Given the description of an element on the screen output the (x, y) to click on. 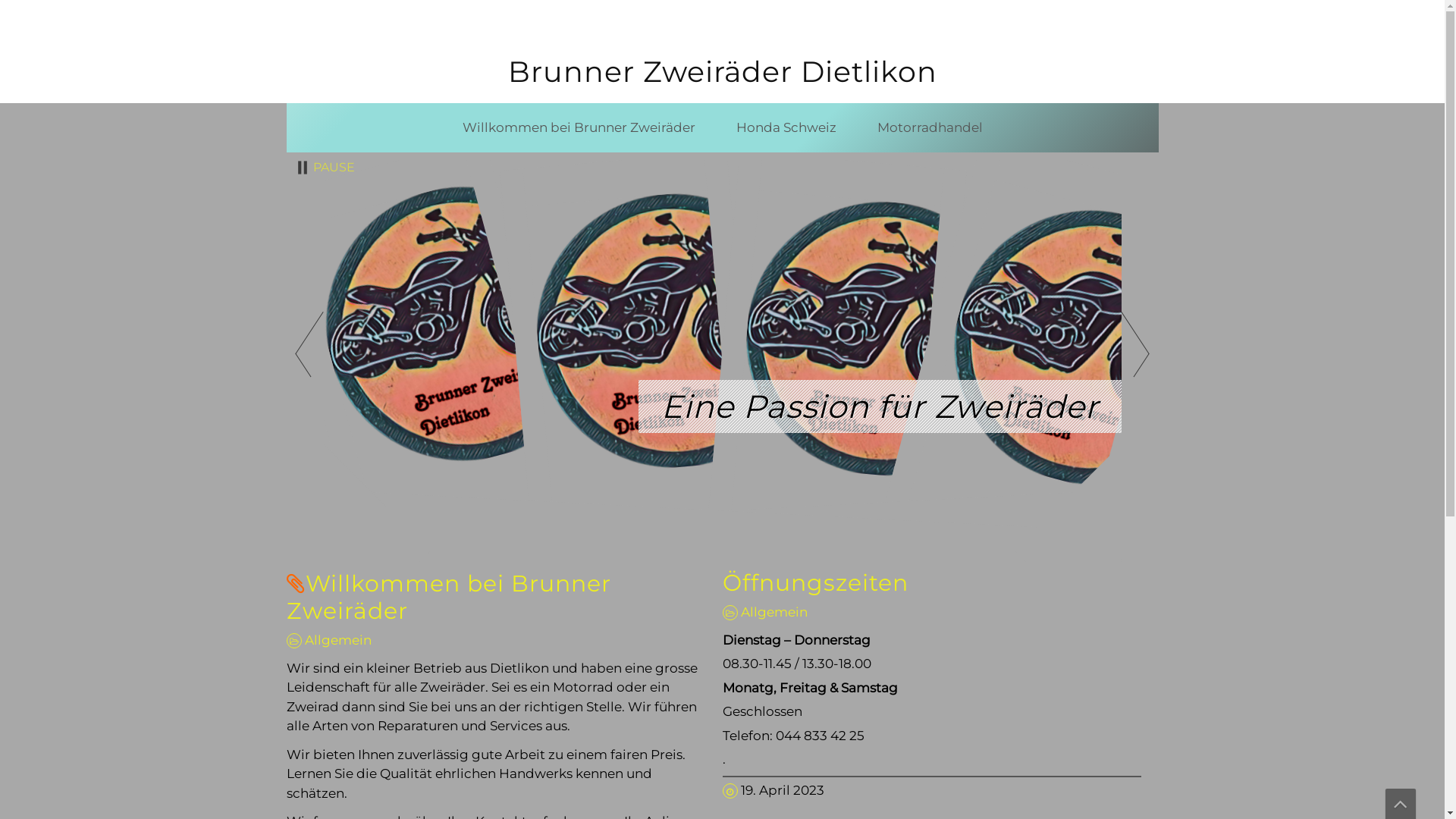
Allgemein Element type: text (773, 611)
Motorradhandel Element type: text (930, 128)
Honda Schweiz Element type: text (785, 128)
Allgemein Element type: text (337, 639)
PAUSE Element type: text (324, 167)
